Given the description of an element on the screen output the (x, y) to click on. 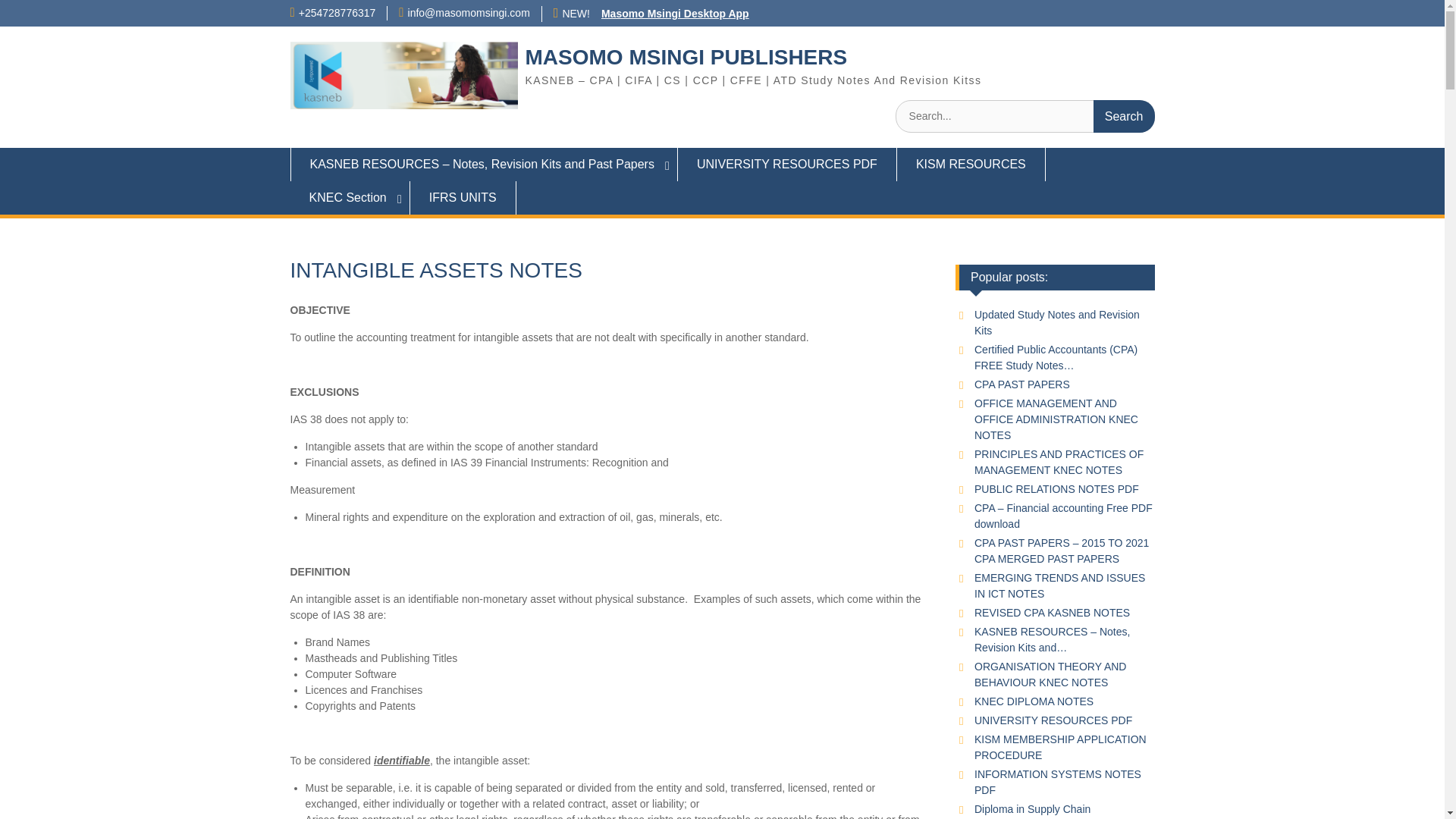
Search for: (1024, 115)
IFRS UNITS (463, 197)
Masomo Msingi Desktop App (675, 13)
Updated Study Notes and Revision Kits (1057, 322)
KISM RESOURCES (970, 164)
Search (1123, 115)
UNIVERSITY RESOURCES PDF (787, 164)
CPA PAST PAPERS (1022, 384)
MASOMO MSINGI PUBLISHERS (685, 56)
PRINCIPLES AND PRACTICES OF MANAGEMENT KNEC NOTES (1058, 461)
